Given the description of an element on the screen output the (x, y) to click on. 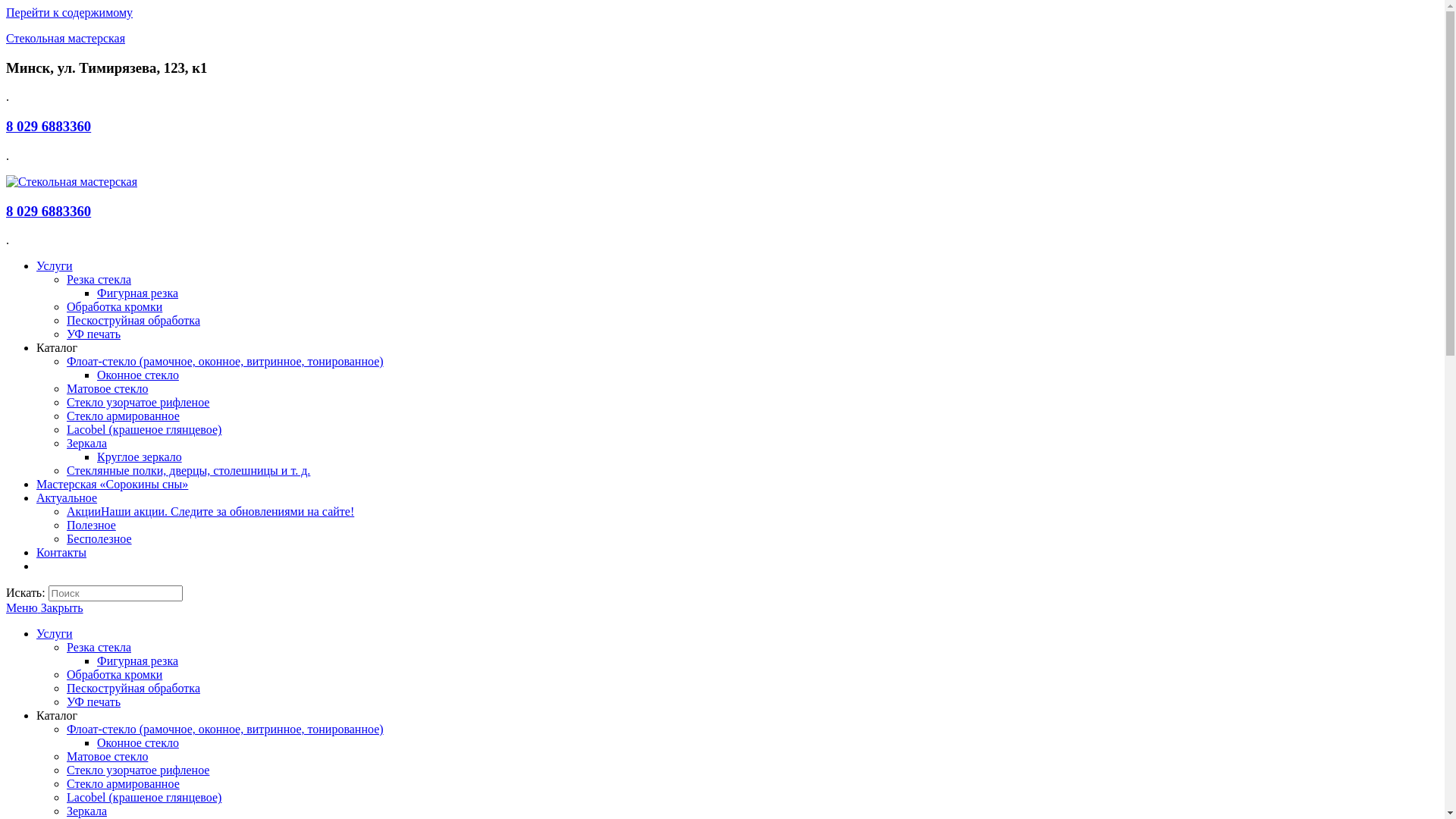
8 029 6883360 Element type: text (48, 211)
8 029 6883360 Element type: text (48, 126)
